Given the description of an element on the screen output the (x, y) to click on. 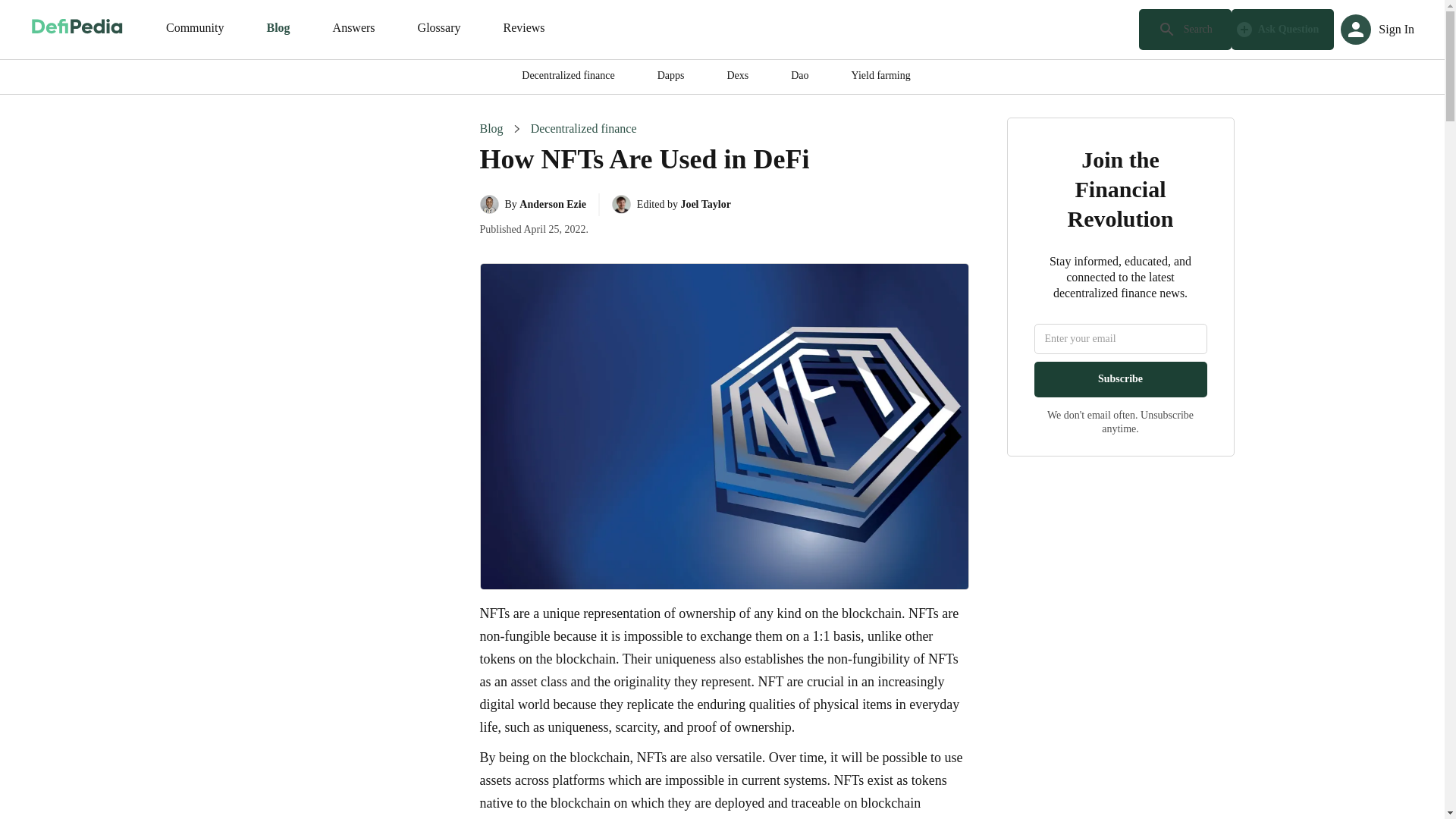
Dapps (671, 76)
Blog (490, 129)
Dexs (736, 76)
Reviews (523, 29)
Dao (800, 76)
Community (194, 29)
Yield farming (880, 76)
Blog (277, 29)
Search (1184, 29)
Decentralized finance (584, 129)
Answers (353, 29)
Ask Question (1283, 29)
Glossary (439, 29)
Decentralized finance (567, 76)
